Given the description of an element on the screen output the (x, y) to click on. 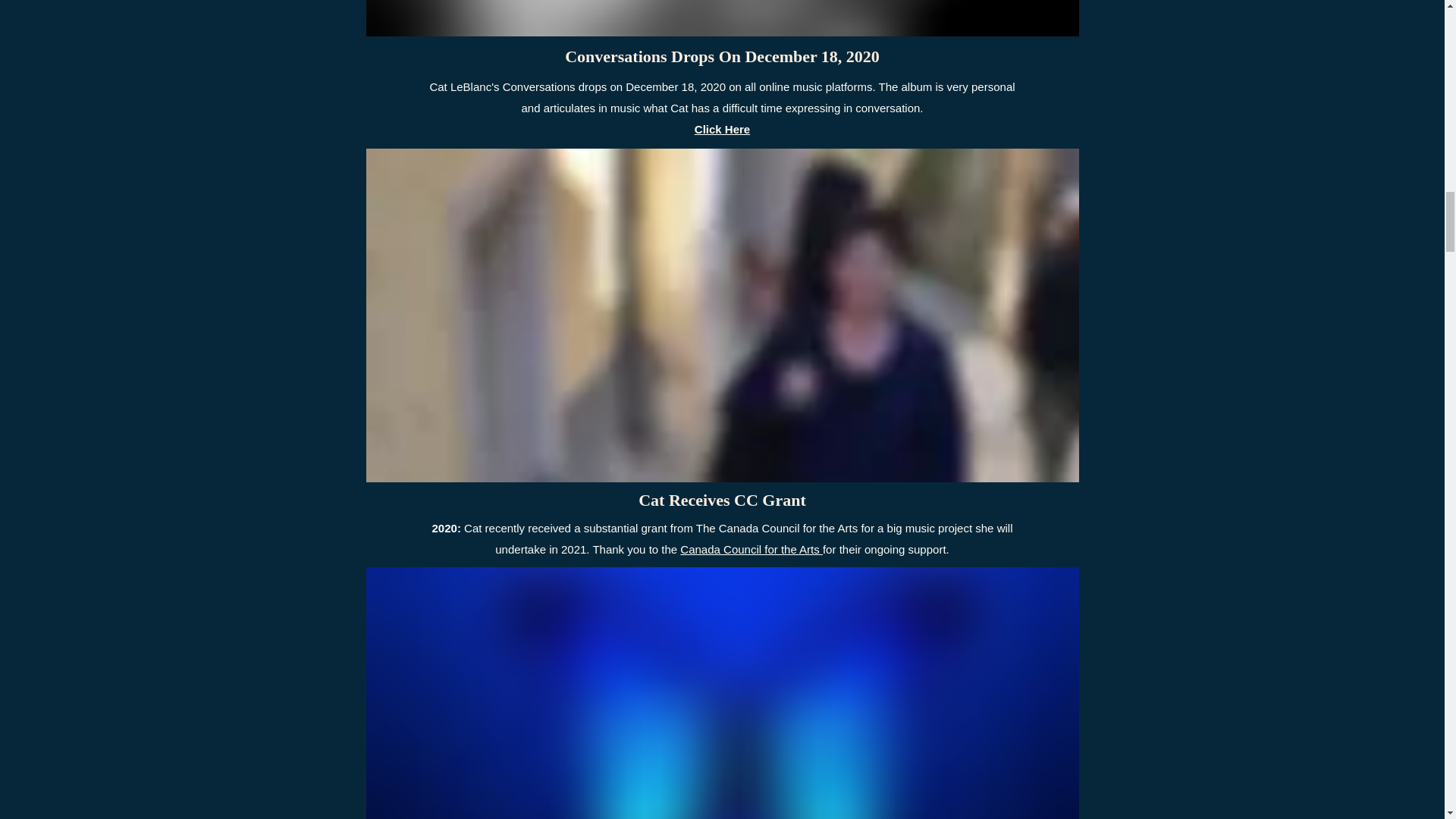
Click Here (721, 128)
Canada Council for the Arts  (750, 549)
